Given the description of an element on the screen output the (x, y) to click on. 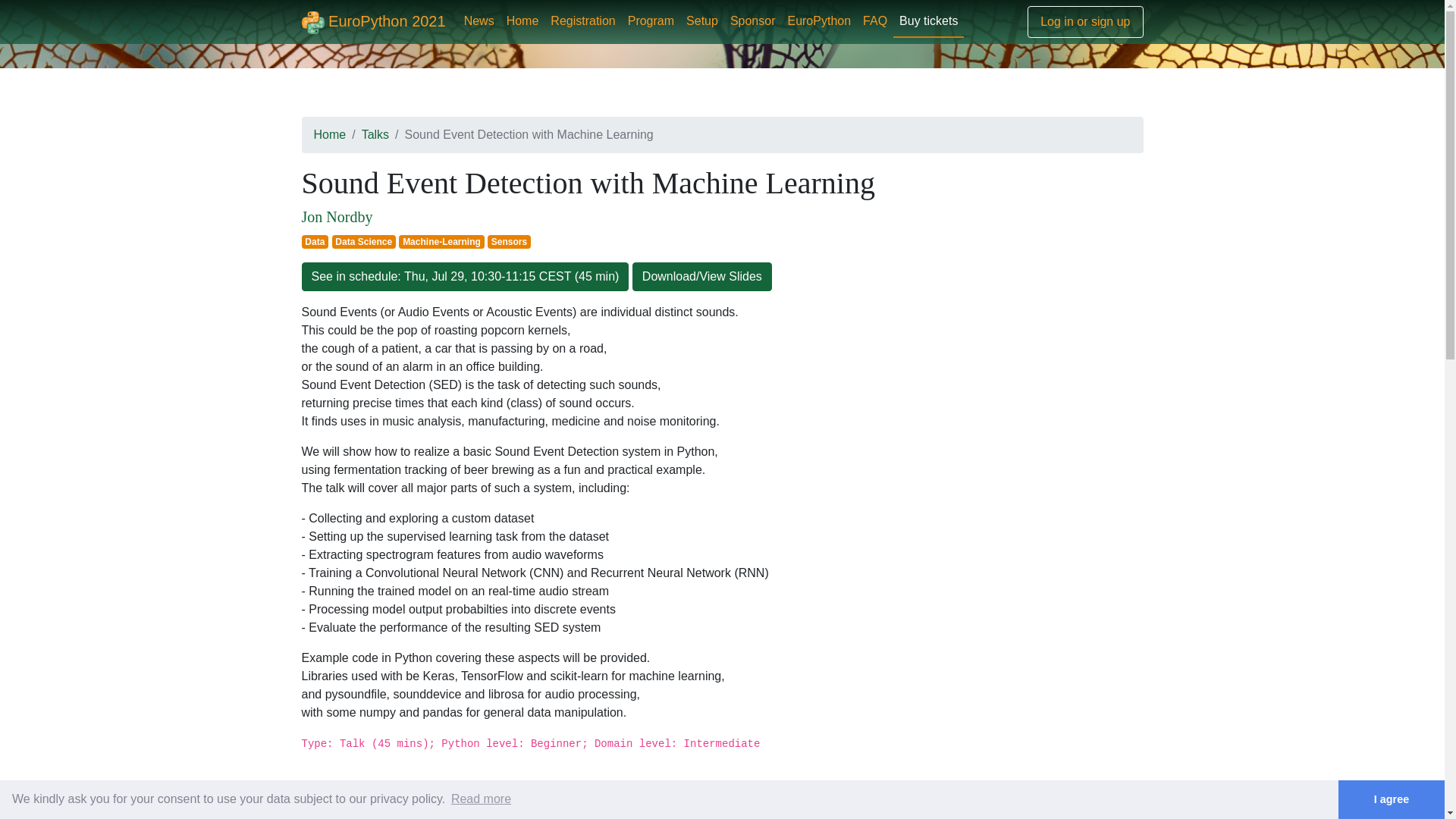
Read more (480, 798)
Setup (701, 20)
Sponsor (752, 20)
EuroPython 2021 (373, 21)
Home (522, 20)
Program (650, 20)
EuroPython (818, 20)
Registration (582, 20)
News (479, 20)
